Given the description of an element on the screen output the (x, y) to click on. 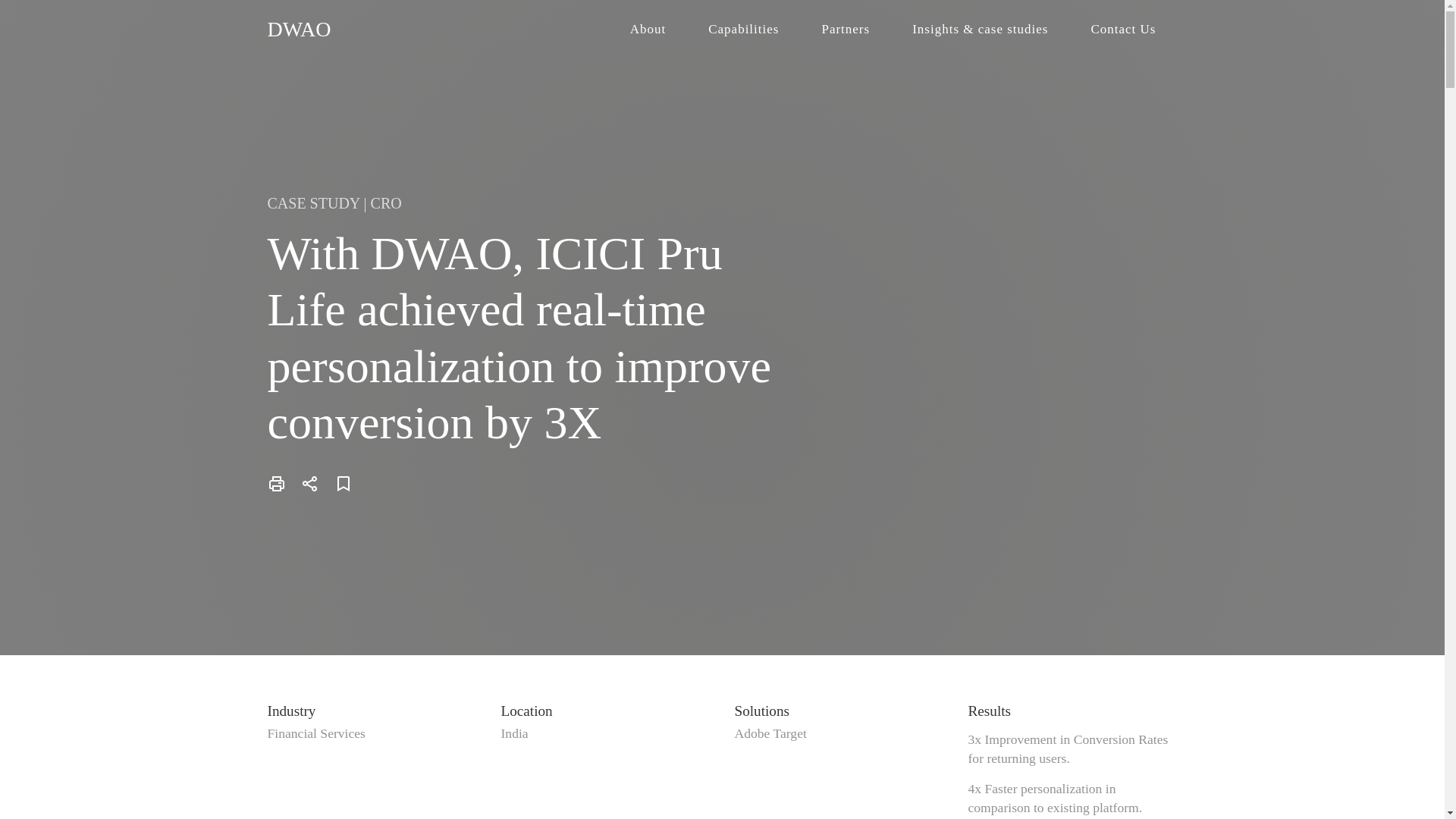
DWAO (298, 28)
Partners (845, 29)
Capabilities (743, 29)
About (647, 29)
